Given the description of an element on the screen output the (x, y) to click on. 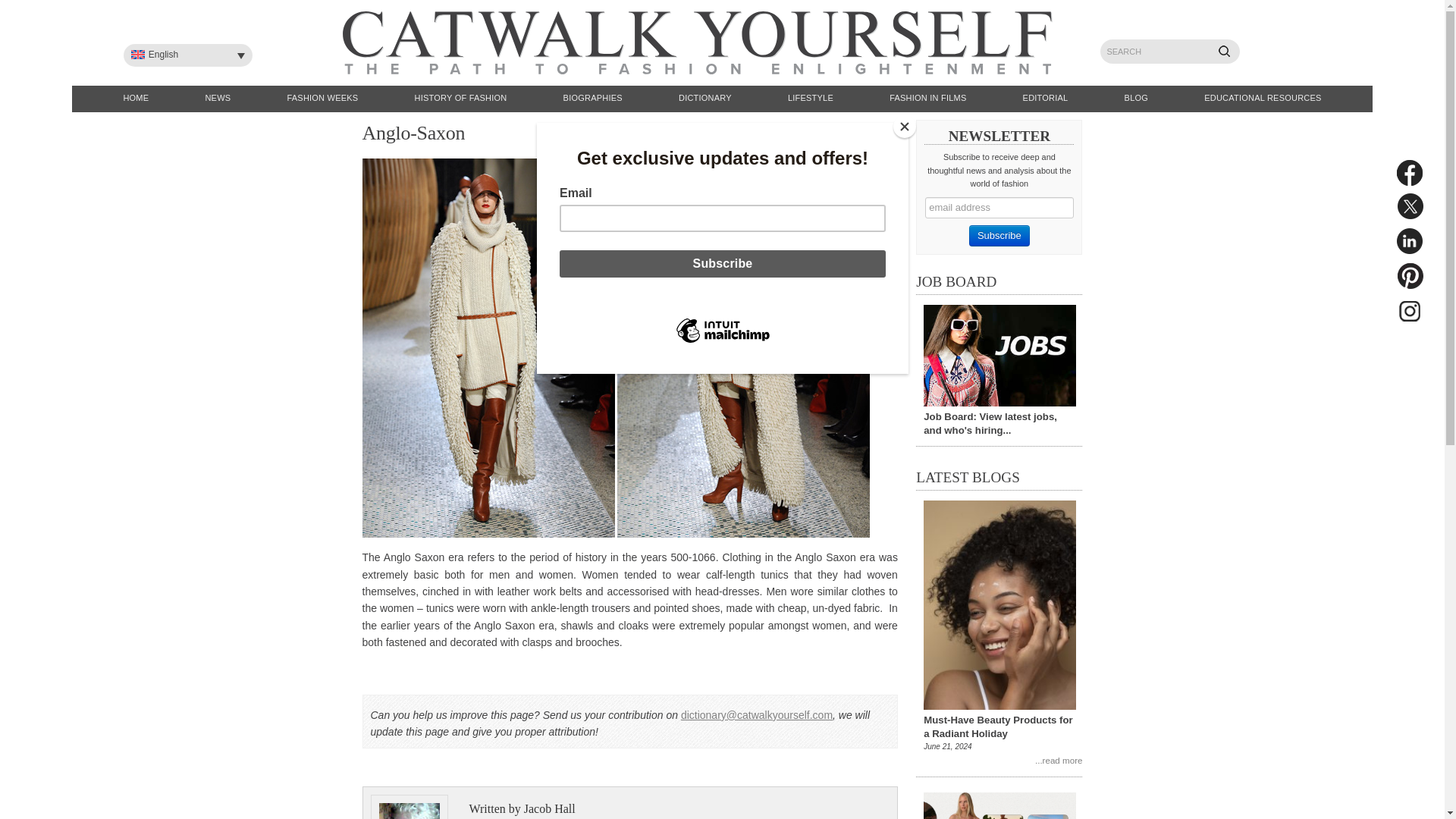
FASHION WEEKS (321, 98)
Subscribe (999, 235)
HOME (135, 98)
English (187, 55)
Search (1229, 55)
NEWS (217, 98)
Search (1229, 55)
